Given the description of an element on the screen output the (x, y) to click on. 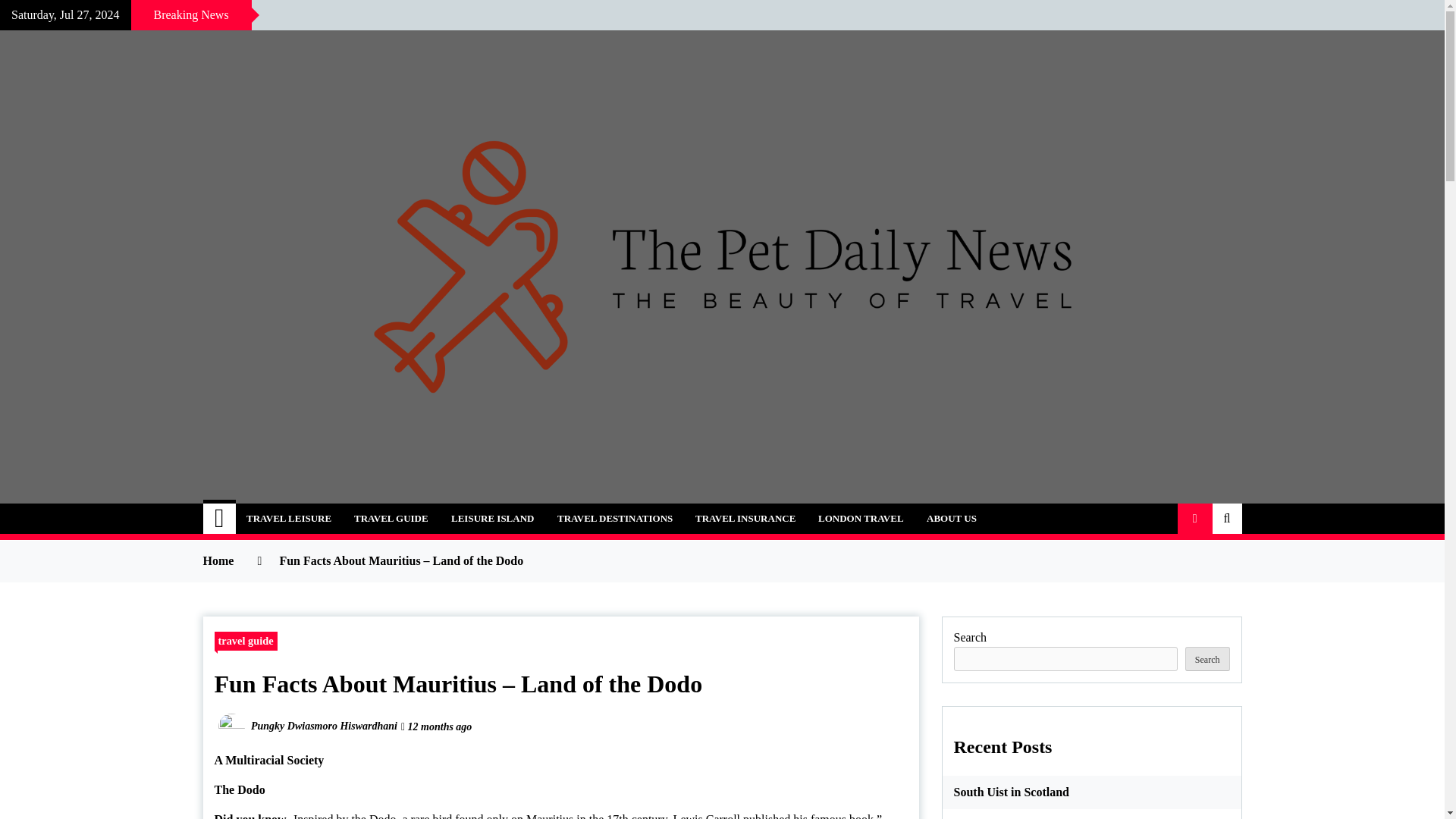
TRAVEL GUIDE (390, 518)
LEISURE ISLAND (491, 518)
ABOUT US (951, 518)
The Pet Daily News (350, 509)
Home (219, 518)
TRAVEL LEISURE (288, 518)
LONDON TRAVEL (860, 518)
TRAVEL DESTINATIONS (615, 518)
TRAVEL INSURANCE (745, 518)
